Given the description of an element on the screen output the (x, y) to click on. 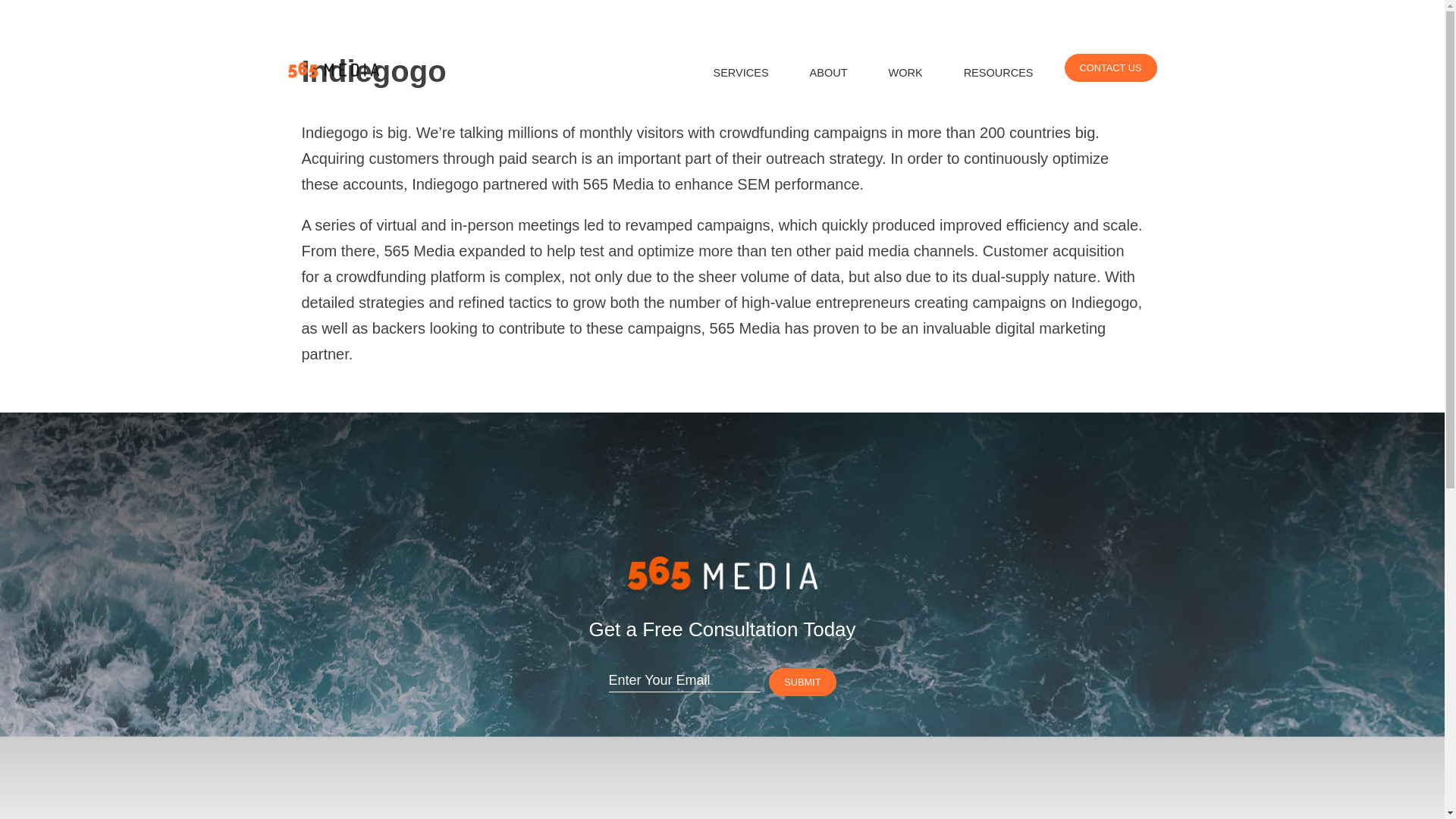
SERVICES (740, 72)
ABOUT (828, 72)
WORK (905, 72)
